Given the description of an element on the screen output the (x, y) to click on. 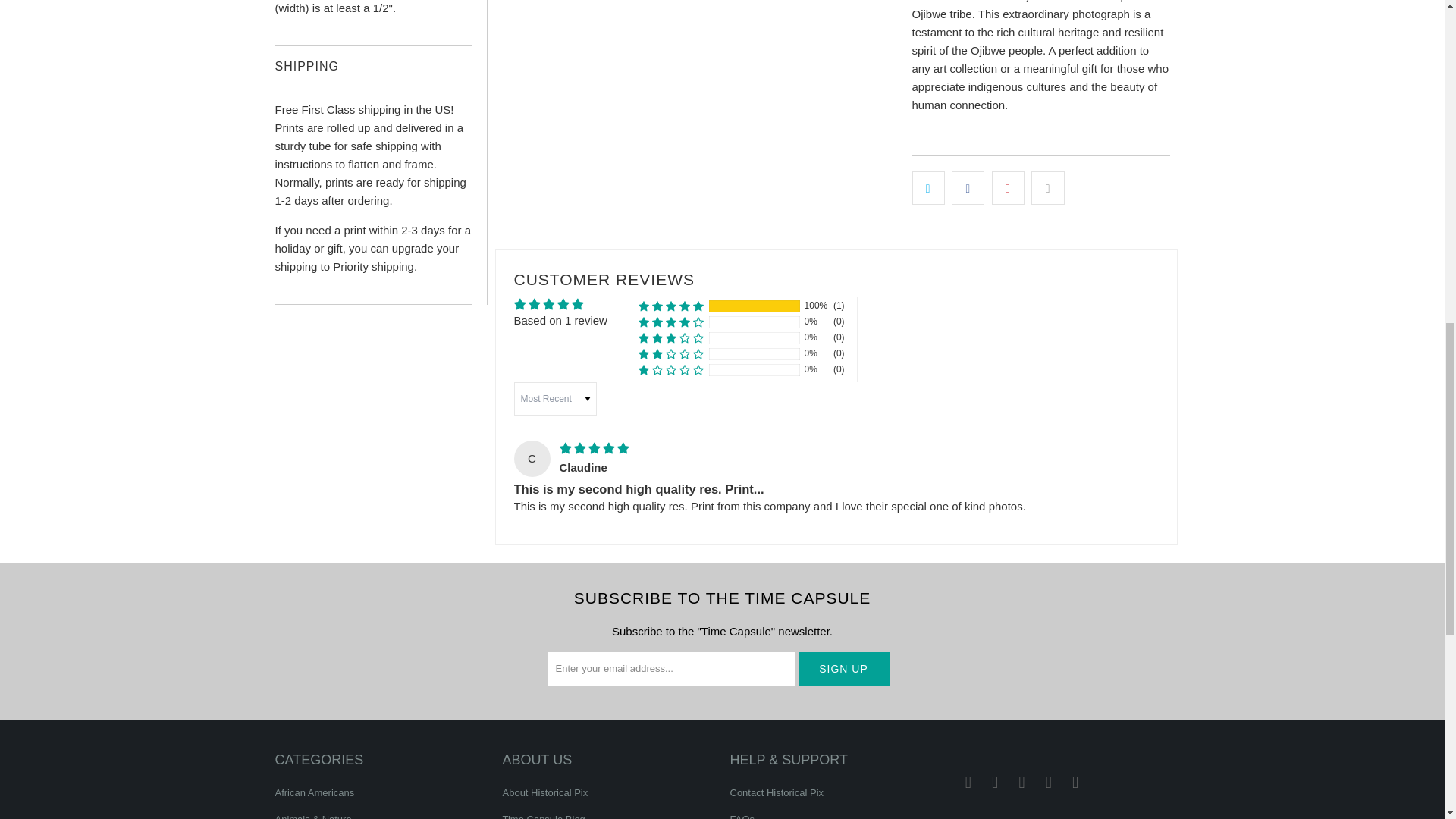
Email this to a friend (1047, 187)
Share this on Facebook (968, 187)
Historical Pix on Facebook (967, 782)
Historical Pix on YouTube (995, 782)
Sign Up (842, 667)
Share this on Pinterest (1008, 187)
Share this on Twitter (927, 187)
